Given the description of an element on the screen output the (x, y) to click on. 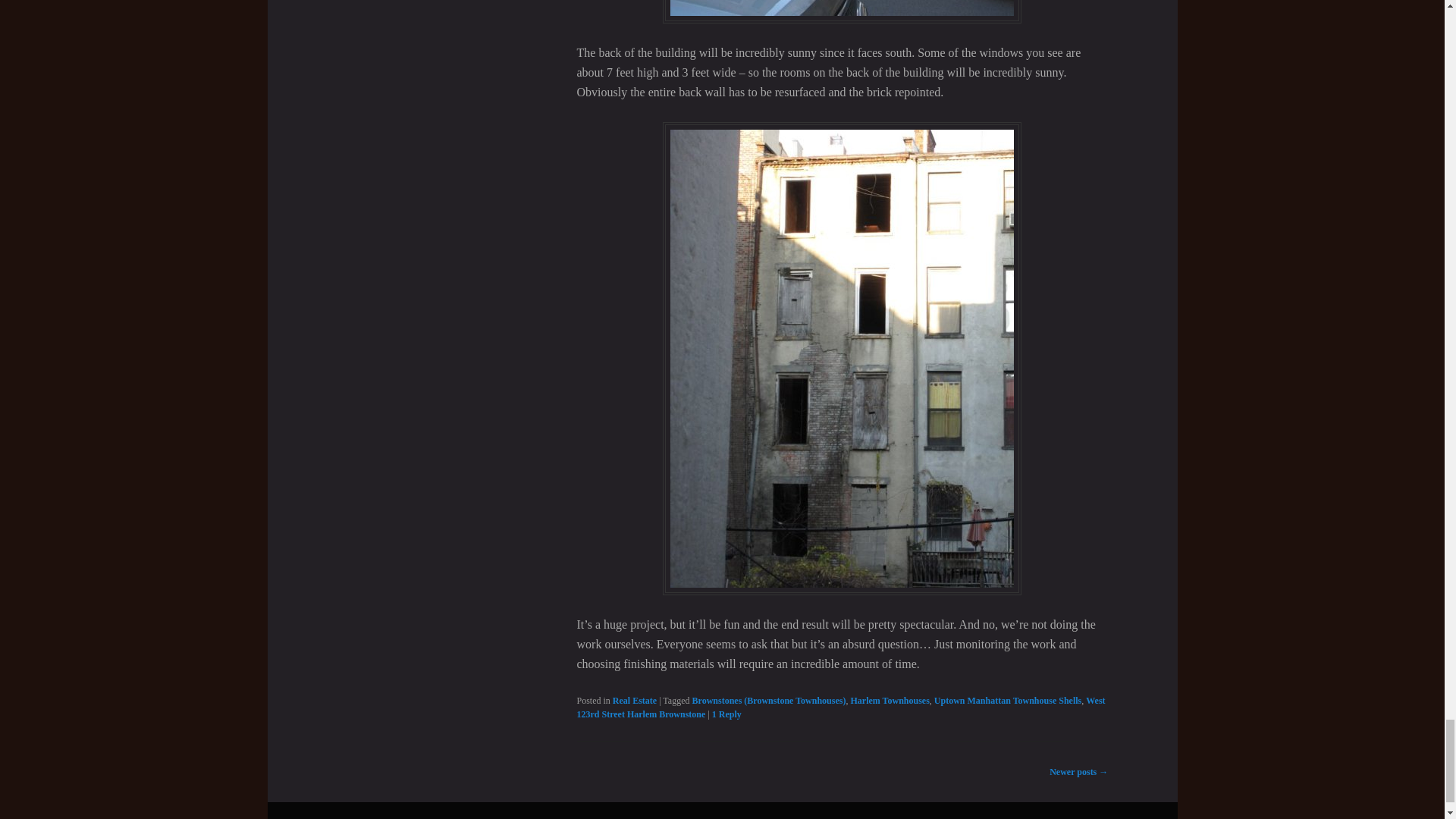
Uptown Manhattan Townhouse Shells (1007, 700)
Harlem Townhouses (889, 700)
West 123rd Street Harlem Brownstone (840, 707)
Real Estate (634, 700)
Front of 168 West 123rd Street - A Harlem brownstone shell (842, 11)
